Given the description of an element on the screen output the (x, y) to click on. 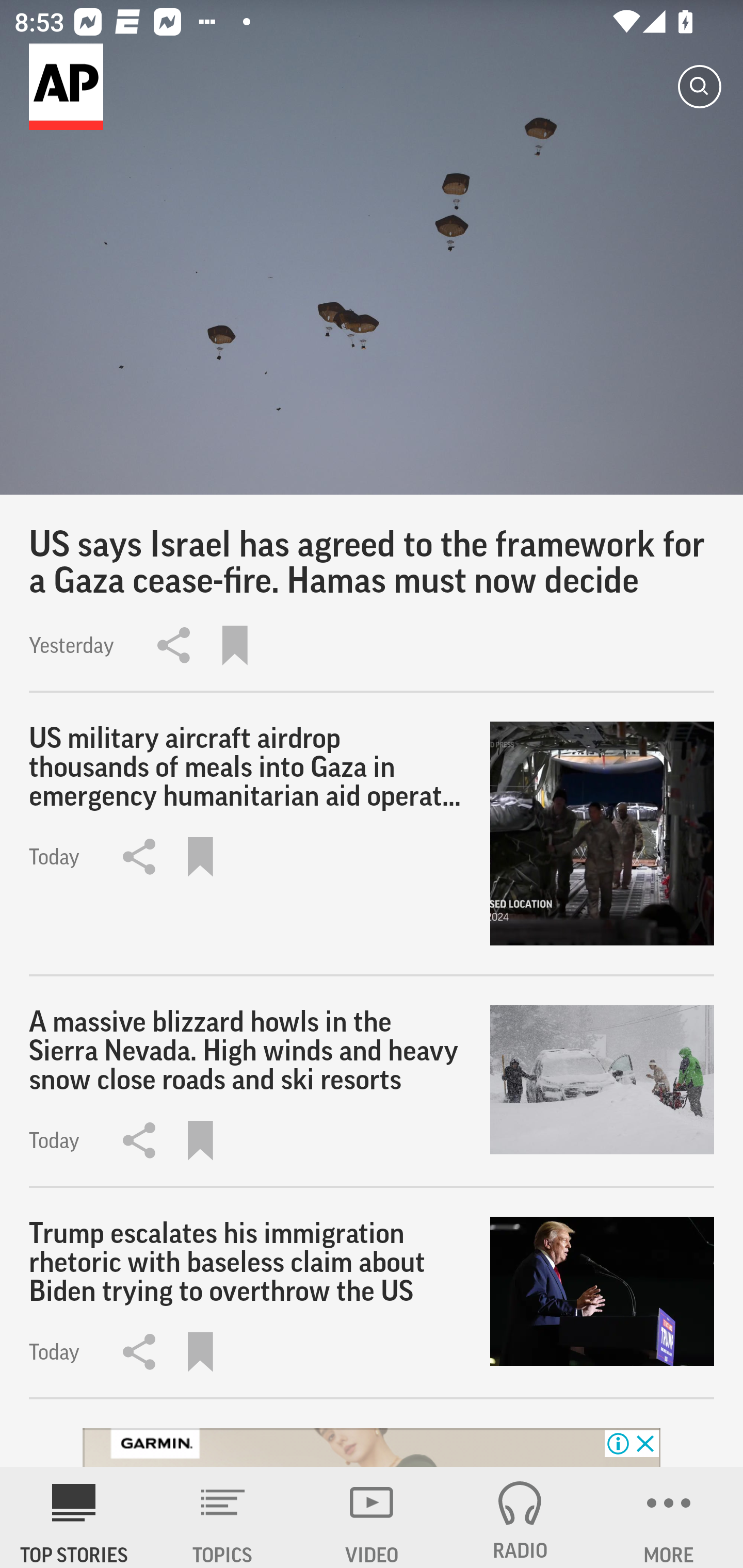
AP News TOP STORIES (74, 1517)
TOPICS (222, 1517)
VIDEO (371, 1517)
RADIO (519, 1517)
MORE (668, 1517)
